Given the description of an element on the screen output the (x, y) to click on. 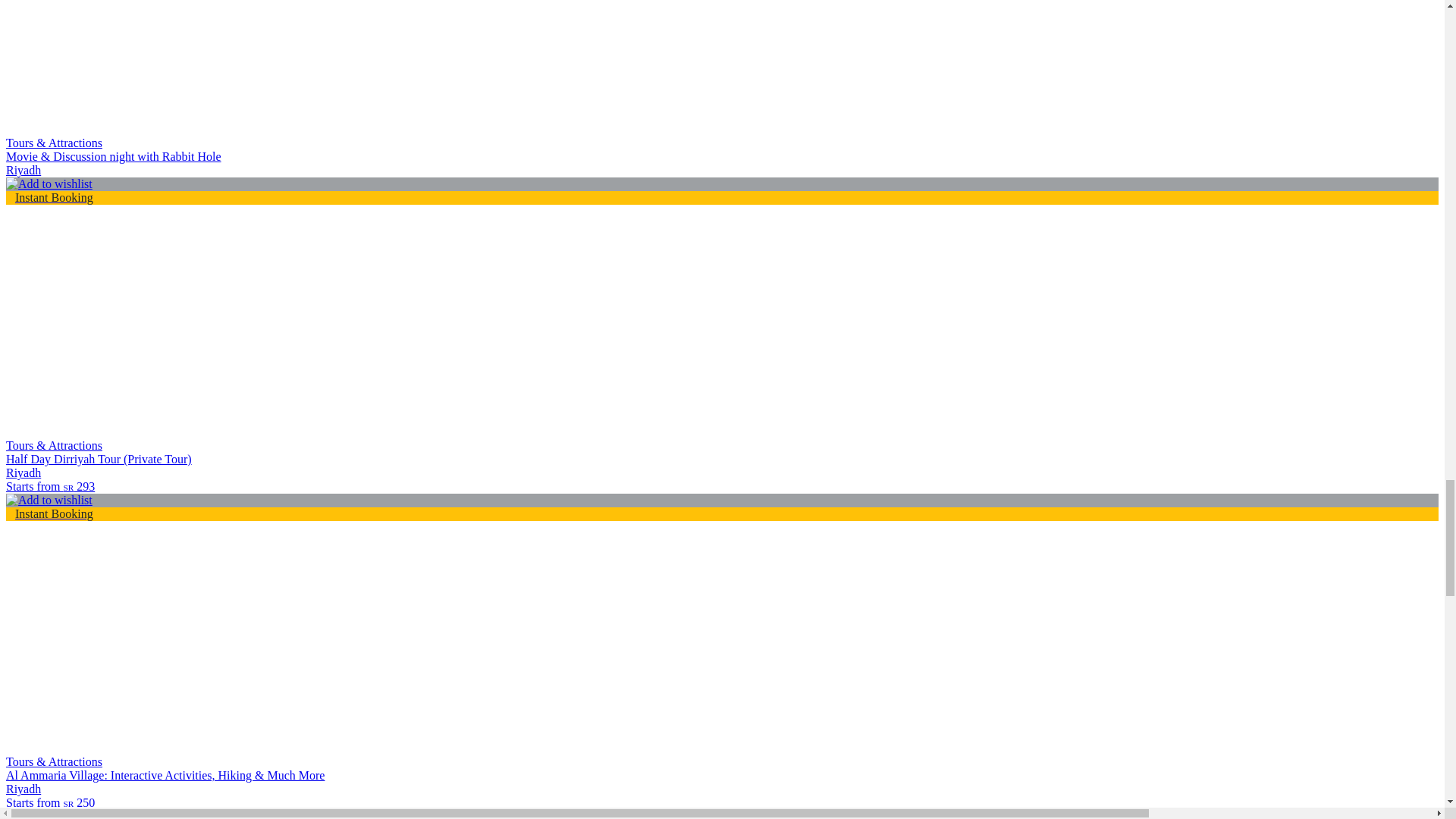
Add to wishlist (49, 814)
Add to wishlist (49, 183)
Add to wishlist (49, 499)
